Given the description of an element on the screen output the (x, y) to click on. 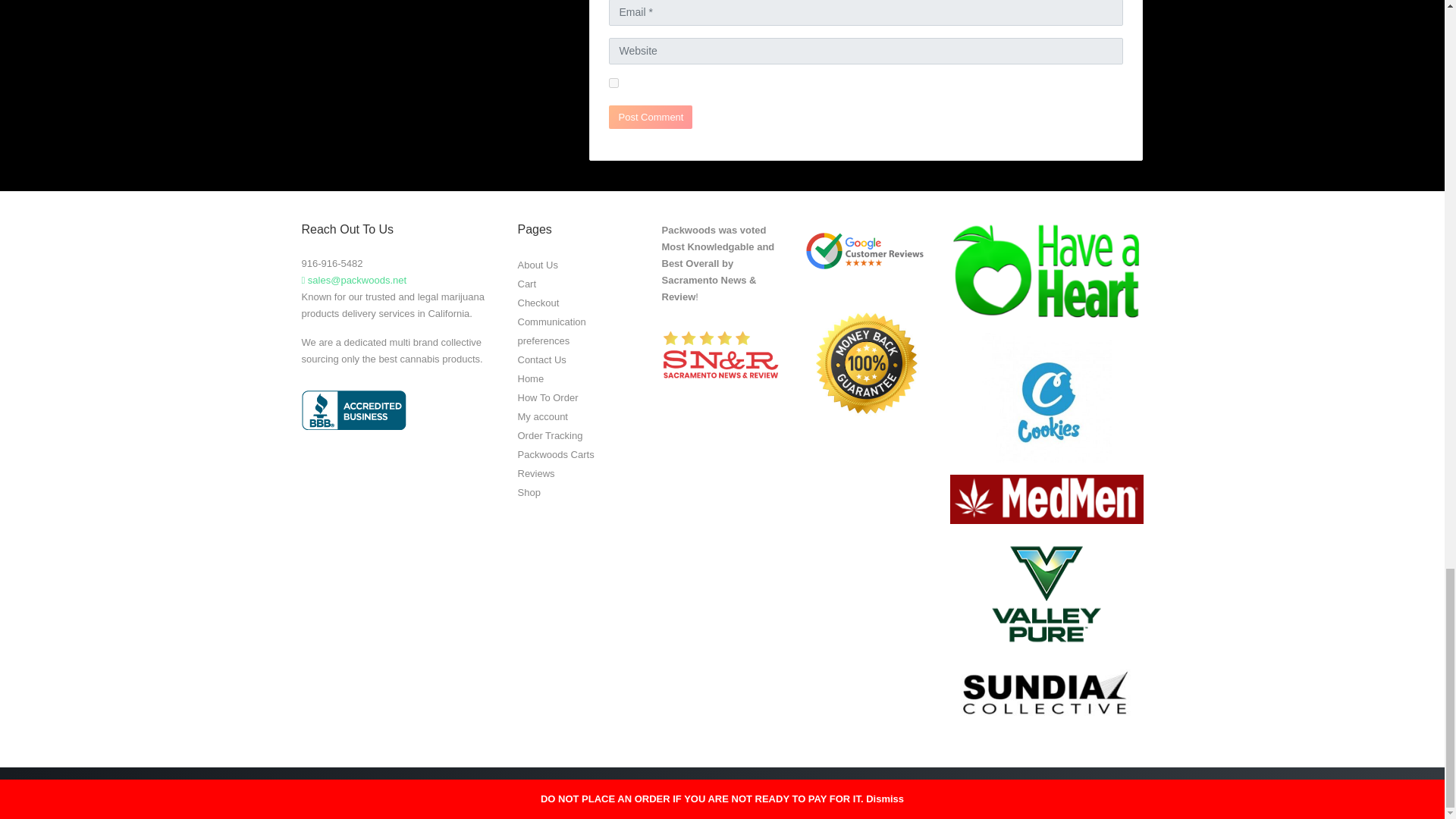
Post Comment (650, 117)
Cart (525, 283)
About Us (536, 264)
Checkout (537, 301)
Packwoods Carts (555, 453)
My account (541, 415)
yes (613, 82)
Contact Us (541, 359)
Reviews (535, 473)
Order Tracking (549, 435)
Post Comment (650, 117)
Communication preferences (550, 331)
Home (529, 378)
How To Order (547, 397)
Shop (528, 491)
